Given the description of an element on the screen output the (x, y) to click on. 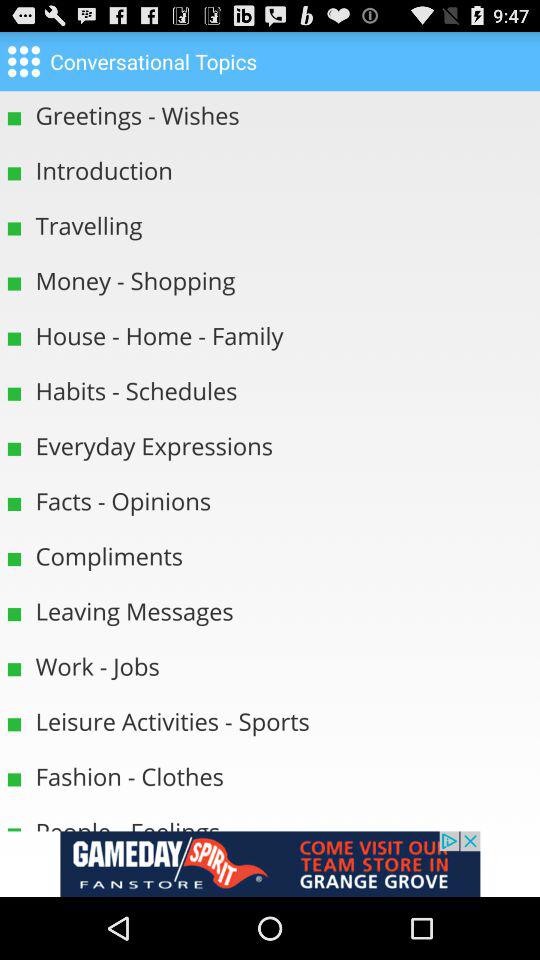
go to icon (23, 60)
